Given the description of an element on the screen output the (x, y) to click on. 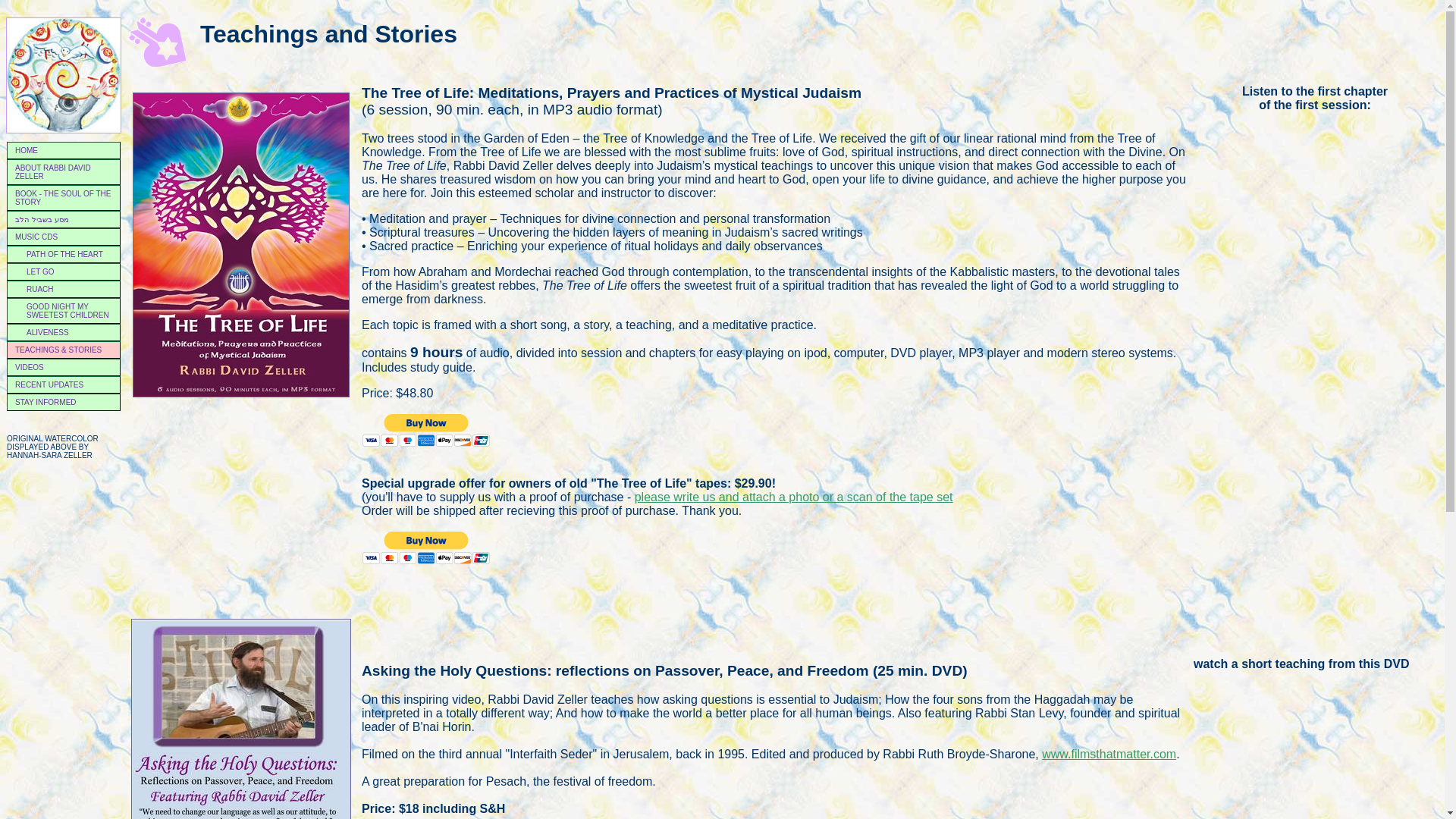
GOOD NIGHT MY SWEETEST CHILDREN (63, 310)
PATH OF THE HEART (63, 253)
RECENT UPDATES (63, 384)
please write us and attach a photo or a scan of the tape set (793, 496)
BOOK - THE SOUL OF THE STORY (63, 197)
VIDEOS (63, 366)
HOME (63, 149)
www.filmsthatmatter.com (1109, 753)
MUSIC CDS (63, 236)
LET GO (63, 271)
RUACH (63, 289)
STAY INFORMED (63, 402)
ABOUT RABBI DAVID ZELLER (63, 171)
ALIVENESS (63, 332)
